Given the description of an element on the screen output the (x, y) to click on. 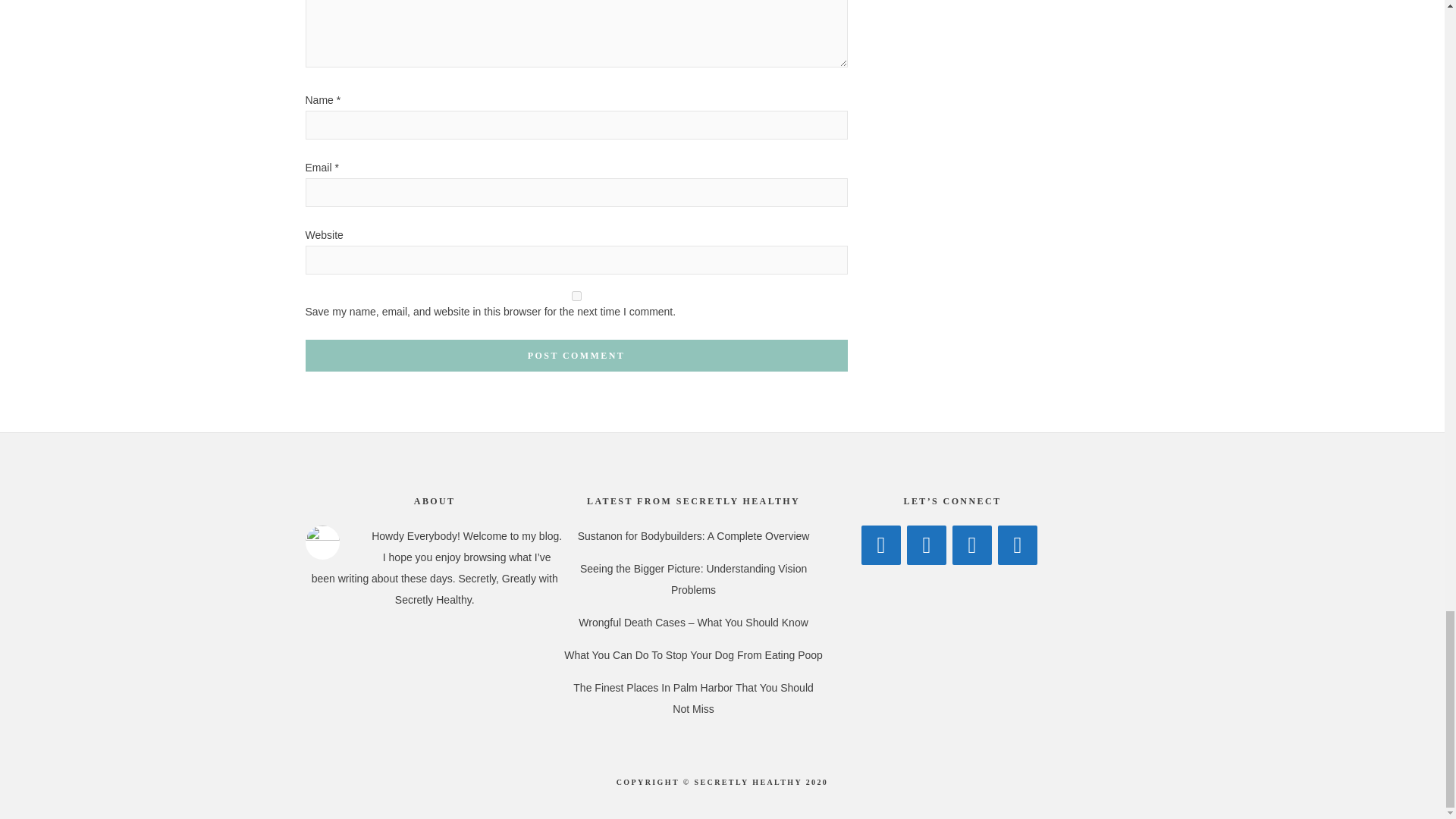
yes (575, 296)
Post Comment (575, 355)
Facebook (881, 545)
Post Comment (575, 355)
Sustanon for Bodybuilders: A Complete Overview (693, 535)
Seeing the Bigger Picture: Understanding Vision Problems (692, 579)
Twitter (926, 545)
